Given the description of an element on the screen output the (x, y) to click on. 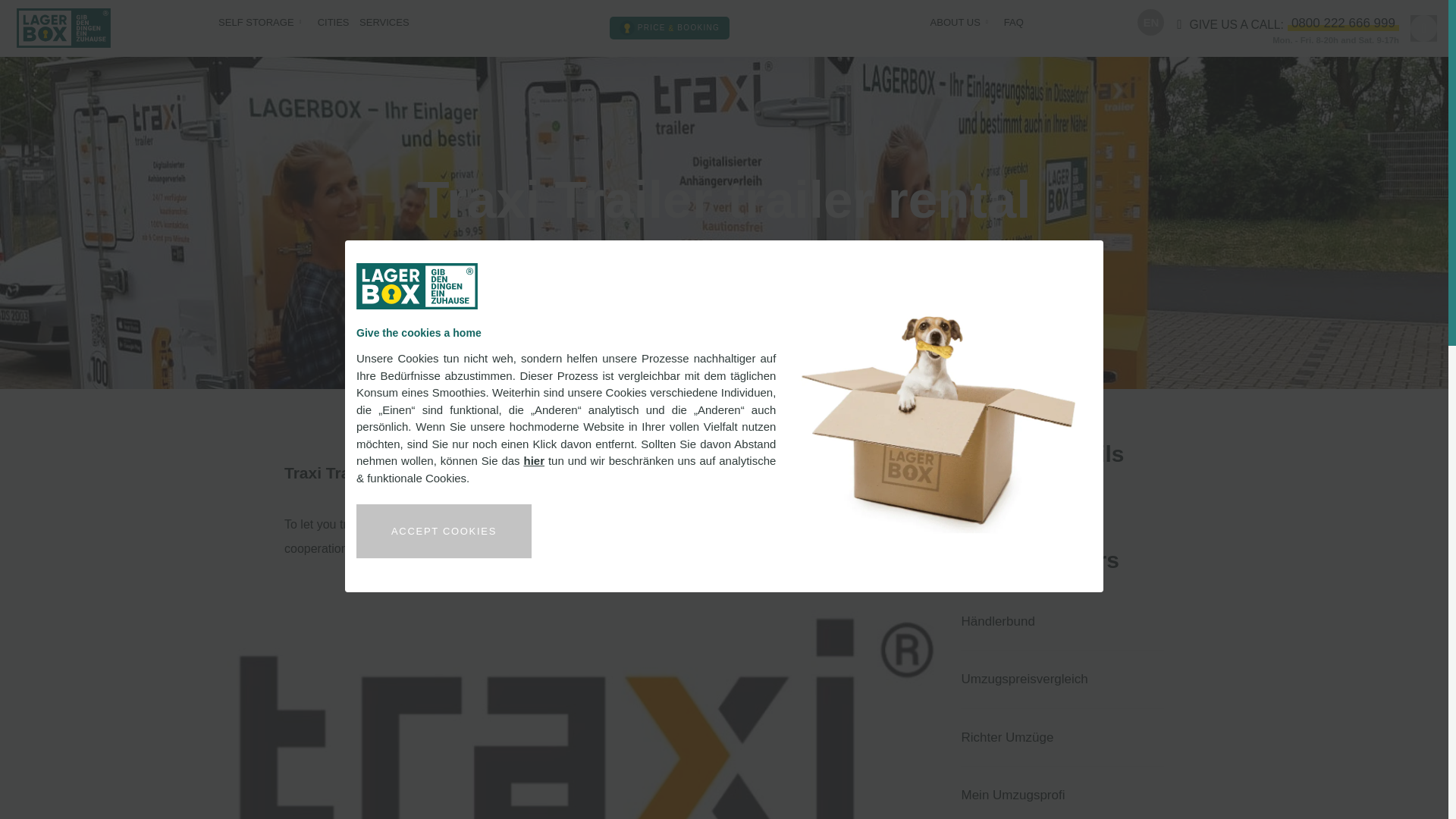
0800 222 666 999 (1343, 22)
Services (384, 22)
0800 222 666 999 (1343, 22)
About us (954, 22)
ABOUT US (954, 22)
Open language selection (1150, 22)
www.traxi-trailer.com (1062, 495)
Mein Umzugsprofi (1061, 792)
LAGERBOX (63, 27)
Self storage (256, 22)
